Given the description of an element on the screen output the (x, y) to click on. 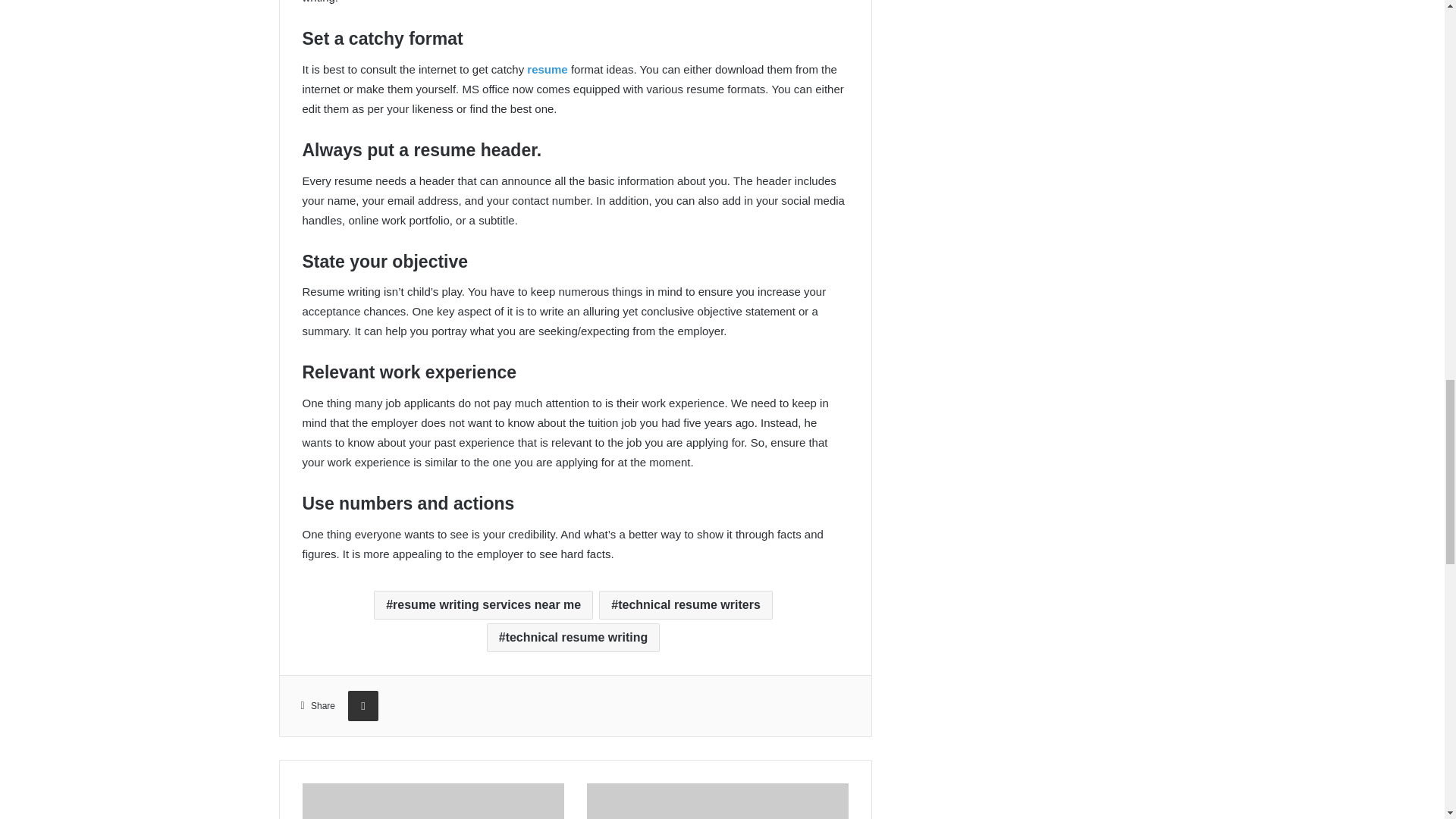
resume writing services near me (483, 604)
technical resume writers (685, 604)
Share via Email (362, 706)
Share via Email (362, 706)
resume (547, 69)
technical resume writing (573, 637)
